Given the description of an element on the screen output the (x, y) to click on. 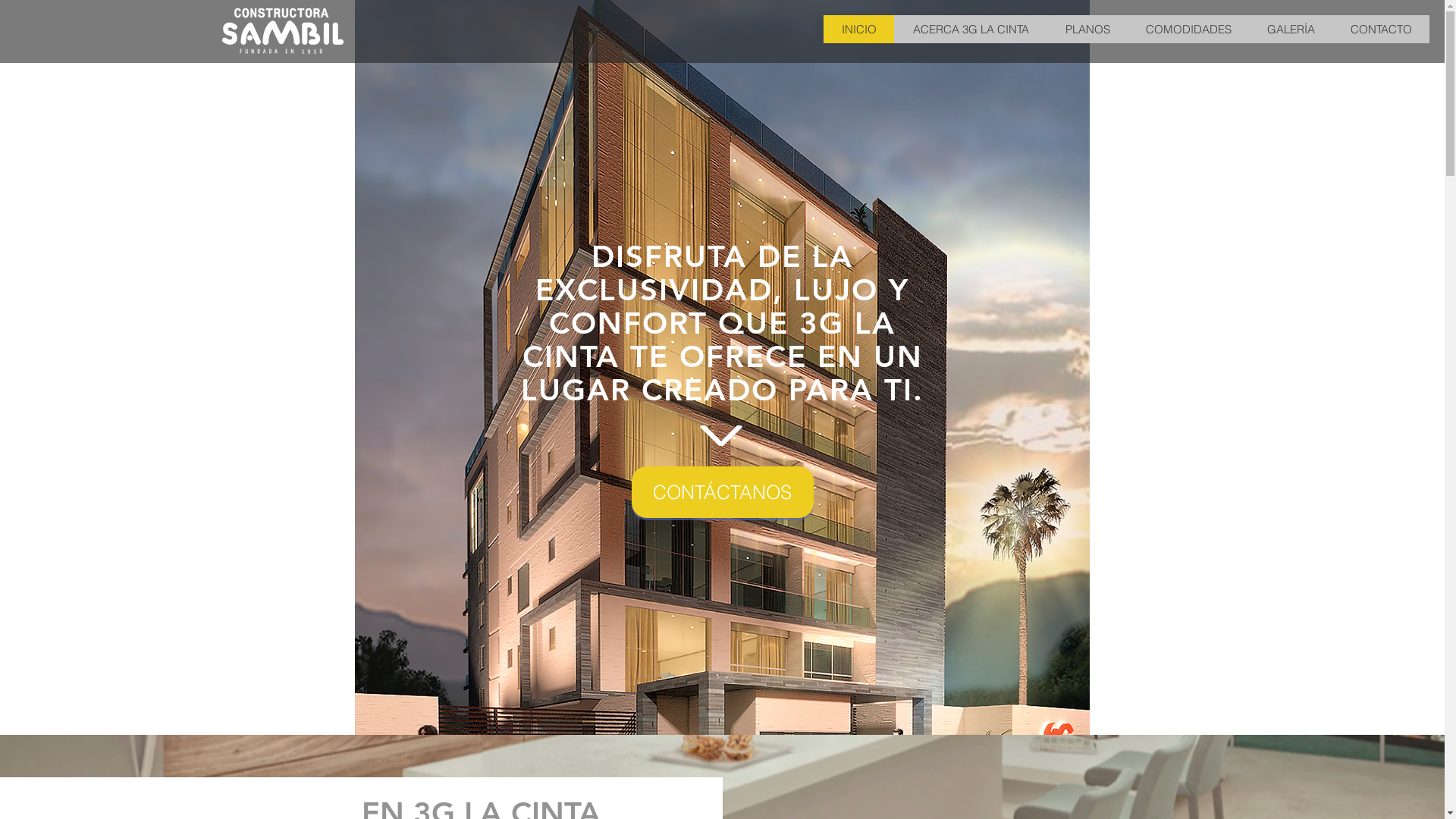
PLANOS Element type: text (1086, 29)
INICIO Element type: text (858, 29)
COMODIDADES Element type: text (1187, 29)
ACERCA 3G LA CINTA Element type: text (970, 29)
CONTACTO Element type: text (1380, 29)
